Given the description of an element on the screen output the (x, y) to click on. 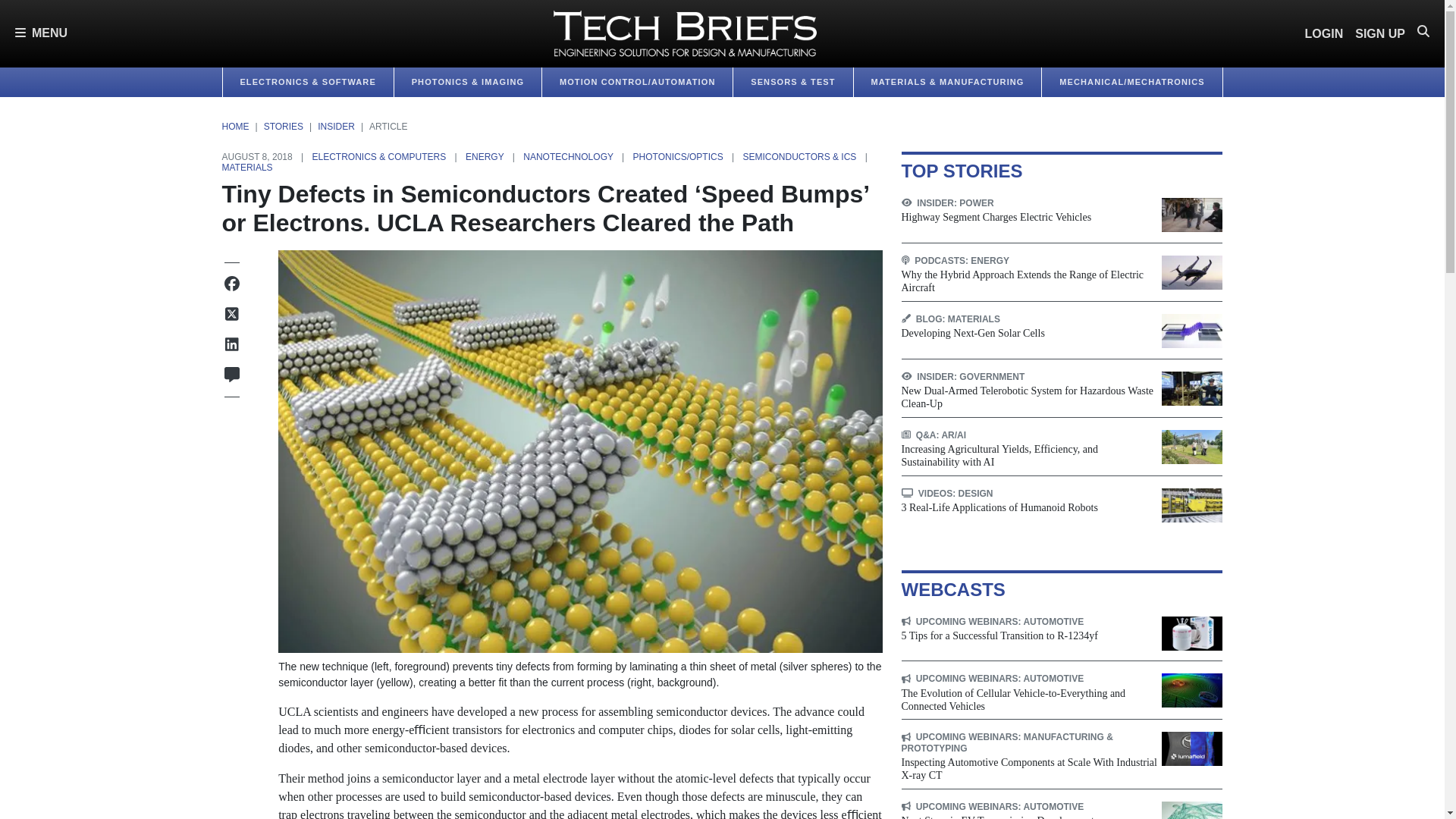
SIGN UP (1379, 32)
LOGIN (1323, 32)
MENU (41, 33)
